Given the description of an element on the screen output the (x, y) to click on. 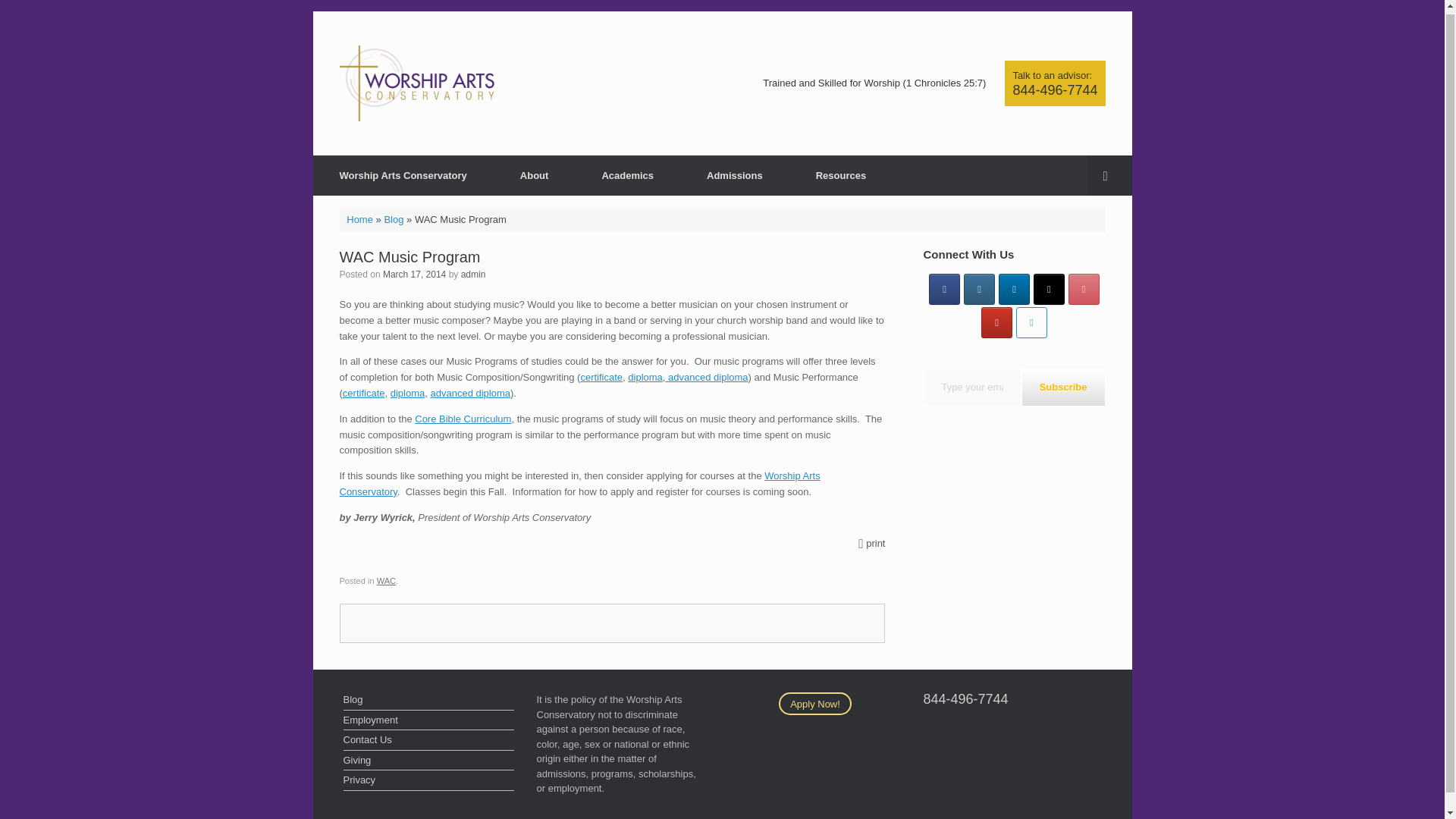
About (534, 175)
Home (359, 218)
Academics (627, 175)
Worship Arts Conservatory (403, 175)
Music Performance Advanced Diploma (470, 392)
Facebook (943, 288)
Blog (393, 218)
Worship Arts Conservatory on Spotify (1031, 322)
Pinterest (1083, 288)
3:00 pm (413, 274)
YouTube (996, 322)
admin (473, 274)
LinkedIn (1013, 288)
Music Composition Diploma (644, 377)
March 17, 2014 (413, 274)
